Given the description of an element on the screen output the (x, y) to click on. 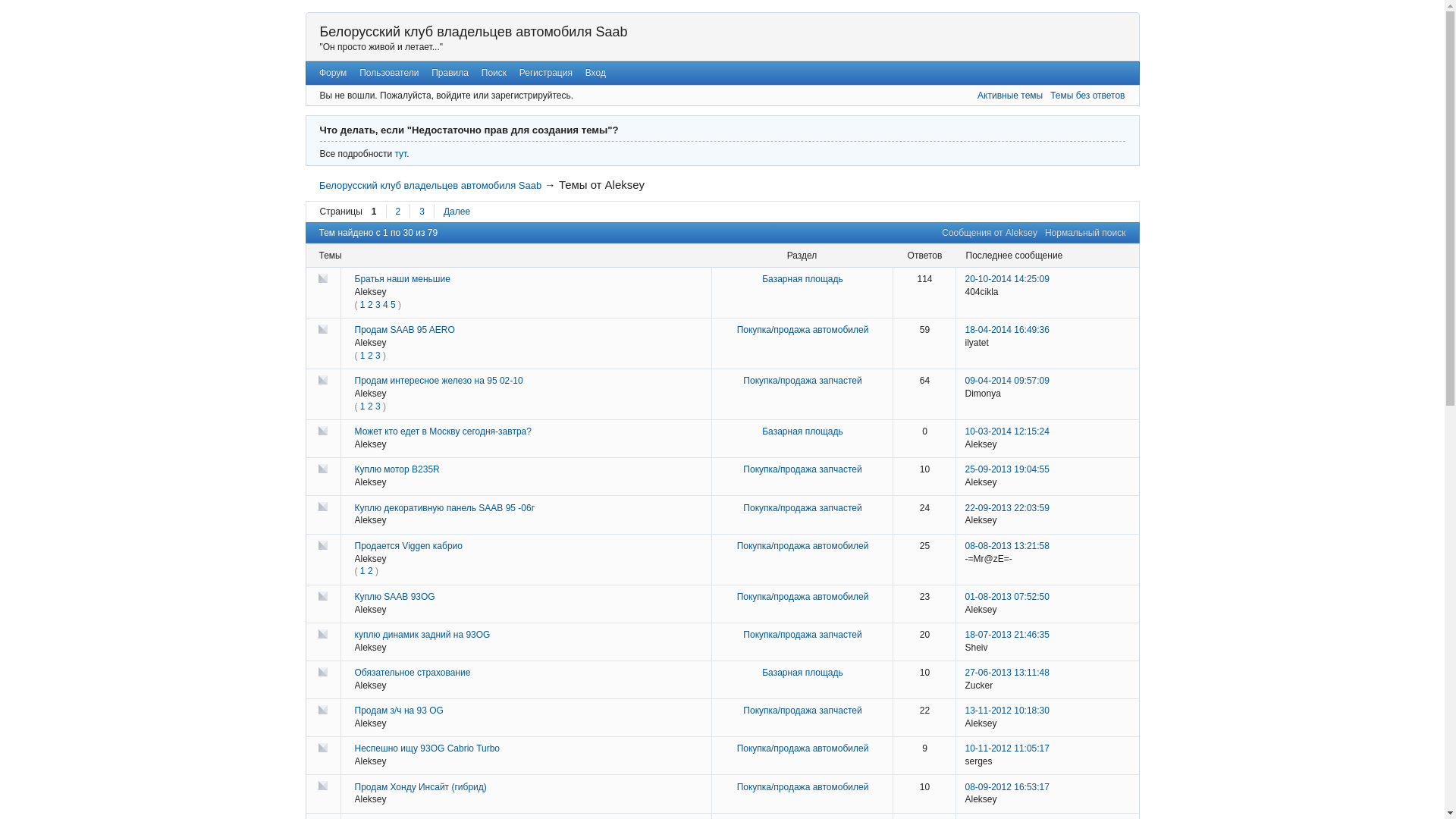
2 Element type: text (370, 570)
20-10-2014 14:25:09 Element type: text (1006, 278)
13-11-2012 10:18:30 Element type: text (1006, 710)
1 Element type: text (362, 355)
10-03-2014 12:15:24 Element type: text (1006, 431)
27-06-2013 13:11:48 Element type: text (1006, 672)
2 Element type: text (370, 304)
2 Element type: text (397, 211)
3 Element type: text (377, 355)
1 Element type: text (362, 406)
5 Element type: text (392, 304)
2 Element type: text (370, 406)
3 Element type: text (421, 211)
3 Element type: text (377, 406)
1 Element type: text (362, 304)
4 Element type: text (385, 304)
2 Element type: text (370, 355)
3 Element type: text (377, 304)
25-09-2013 19:04:55 Element type: text (1006, 469)
10-11-2012 11:05:17 Element type: text (1006, 748)
01-08-2013 07:52:50 Element type: text (1006, 596)
08-08-2013 13:21:58 Element type: text (1006, 545)
22-09-2013 22:03:59 Element type: text (1006, 507)
18-07-2013 21:46:35 Element type: text (1006, 634)
08-09-2012 16:53:17 Element type: text (1006, 786)
09-04-2014 09:57:09 Element type: text (1006, 380)
18-04-2014 16:49:36 Element type: text (1006, 329)
1 Element type: text (362, 570)
